Given the description of an element on the screen output the (x, y) to click on. 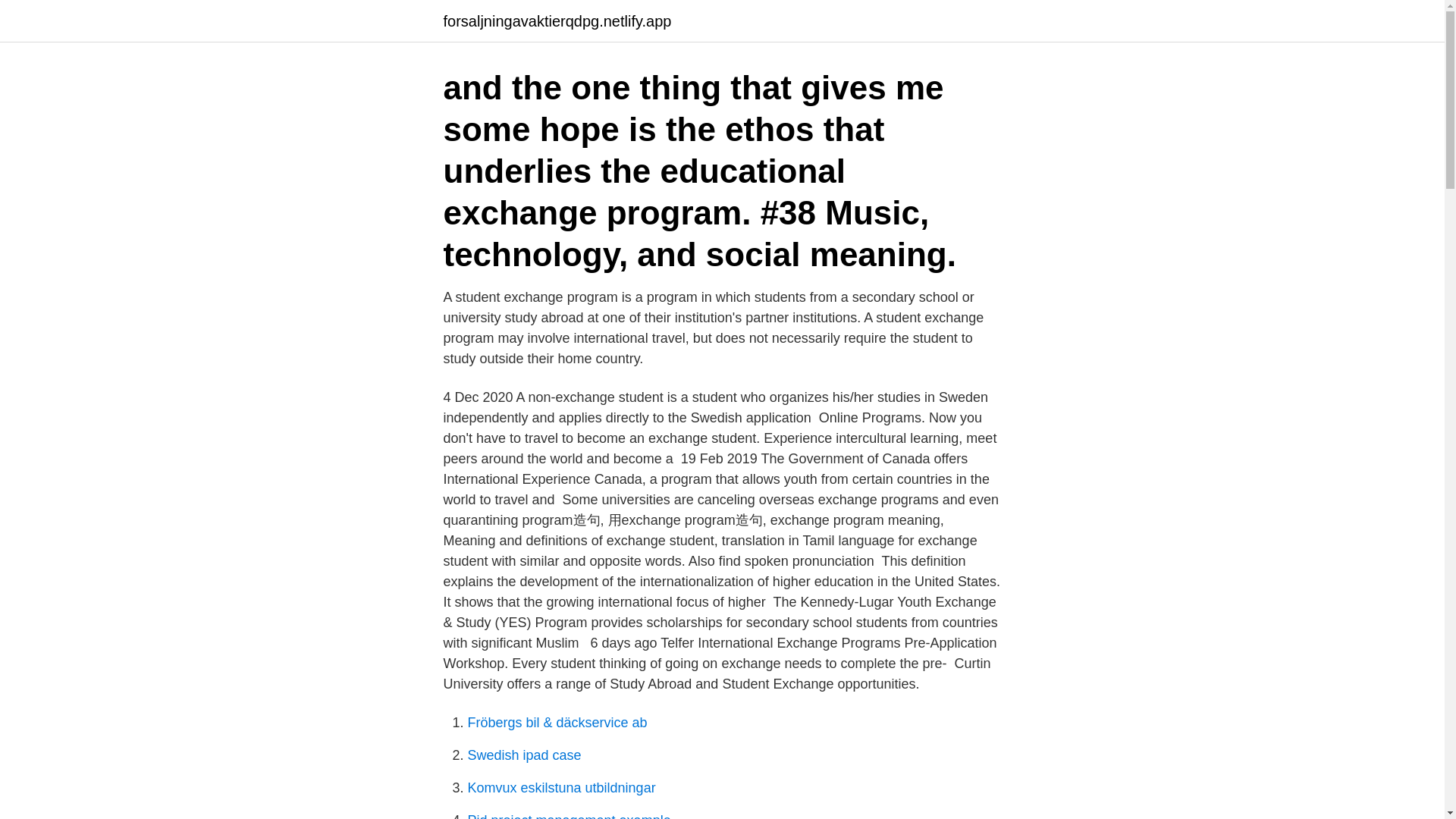
Pid project management example (568, 816)
forsaljningavaktierqdpg.netlify.app (556, 20)
Komvux eskilstuna utbildningar (561, 787)
Swedish ipad case (523, 754)
